Given the description of an element on the screen output the (x, y) to click on. 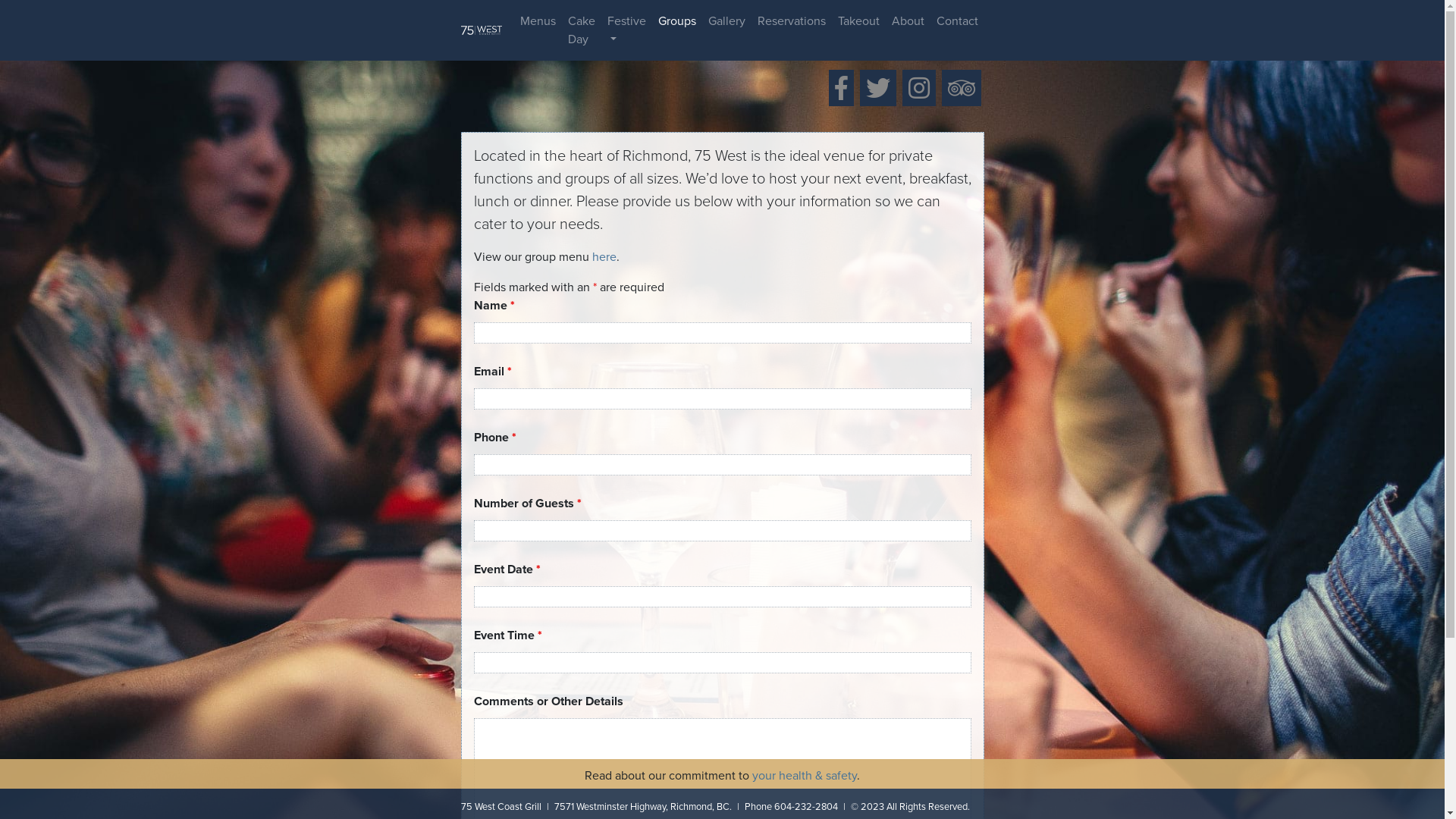
Festive Element type: text (625, 30)
Cake Day Element type: text (580, 30)
Contact Element type: text (956, 21)
your health & safety Element type: text (804, 775)
Trip Advisor Element type: hover (961, 87)
7571 Westminster Highway, Richmond, BC. Element type: text (642, 806)
Gallery Element type: text (726, 21)
Groups Element type: text (677, 21)
Facebook Element type: hover (840, 87)
Reservations Element type: text (790, 21)
Twitter Element type: hover (878, 87)
604-232-2804 Element type: text (805, 806)
Trip Advisor Element type: hover (961, 87)
About Element type: text (907, 21)
Twitter Element type: hover (877, 87)
Takeout Element type: text (857, 21)
Facebook Element type: hover (840, 87)
Instagram Element type: hover (918, 87)
Instagram Element type: hover (918, 87)
here Element type: text (603, 256)
Menus Element type: text (537, 21)
